Given the description of an element on the screen output the (x, y) to click on. 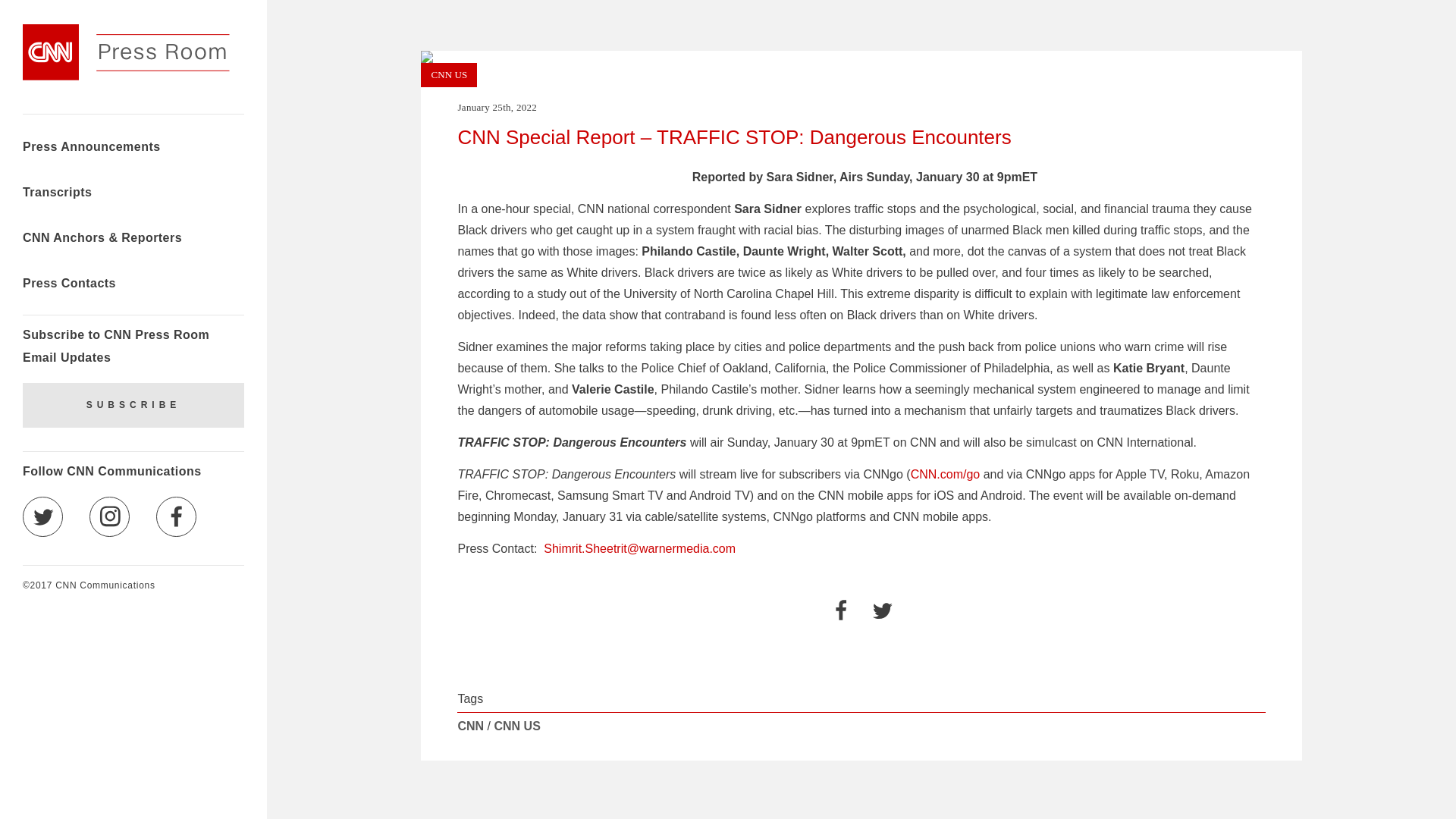
Press Announcements (91, 149)
Transcripts (57, 194)
Press Contacts (69, 285)
